Given the description of an element on the screen output the (x, y) to click on. 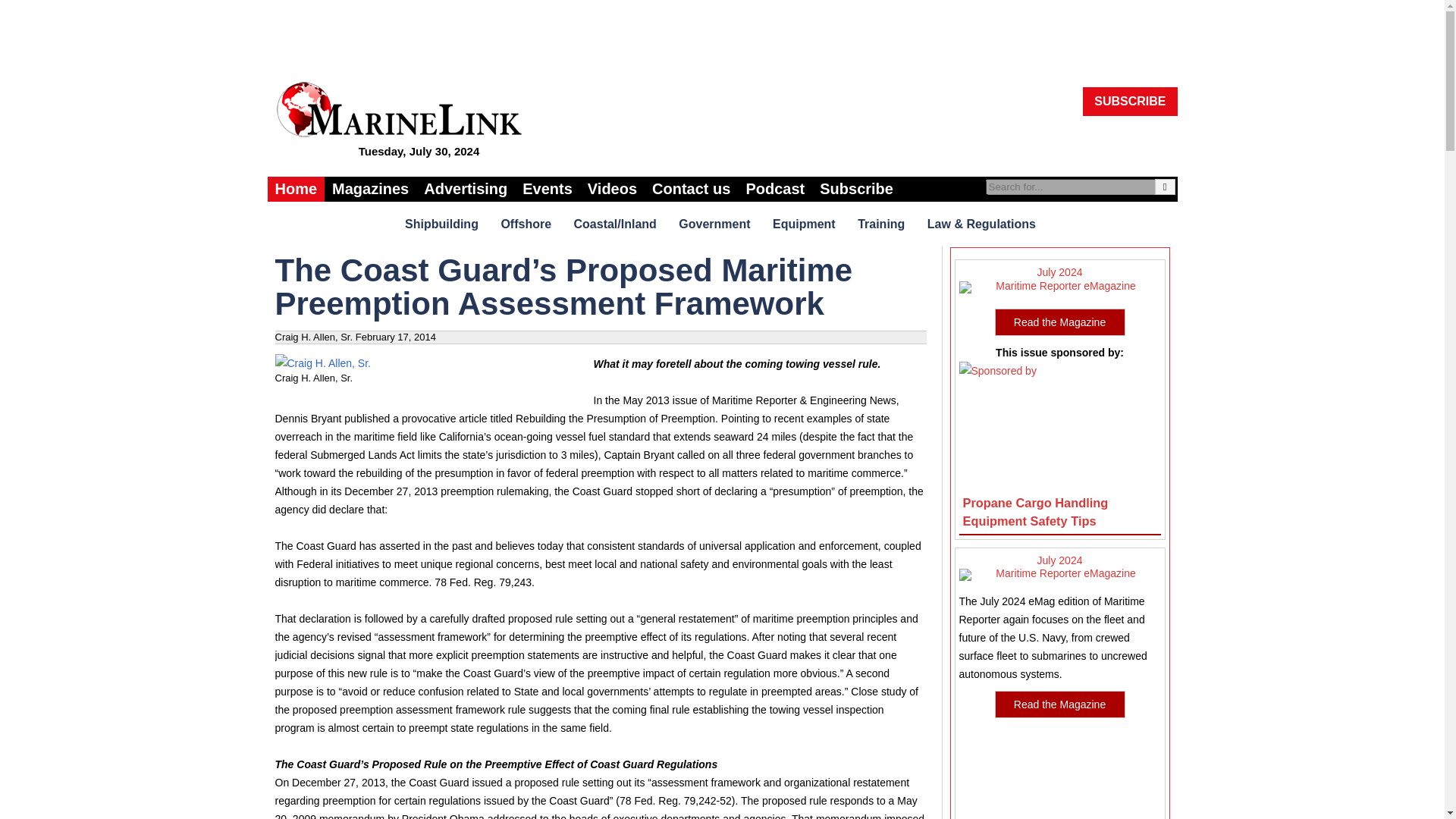
Maritime Training News (882, 223)
Subscribe (856, 188)
Home (295, 188)
Government (716, 223)
Maritime Events (547, 188)
Shipbuilding (443, 223)
Advertising (465, 188)
Magazines (370, 188)
Maritime News, Maritime Magazine (295, 188)
Maritime Reporter TV (612, 188)
SUBSCRIBE (1129, 101)
 Maritime Advertising (465, 188)
 Offshore News (527, 223)
 Maritime Reporter Magazine and Marine News Magazine (370, 188)
Training (882, 223)
